Given the description of an element on the screen output the (x, y) to click on. 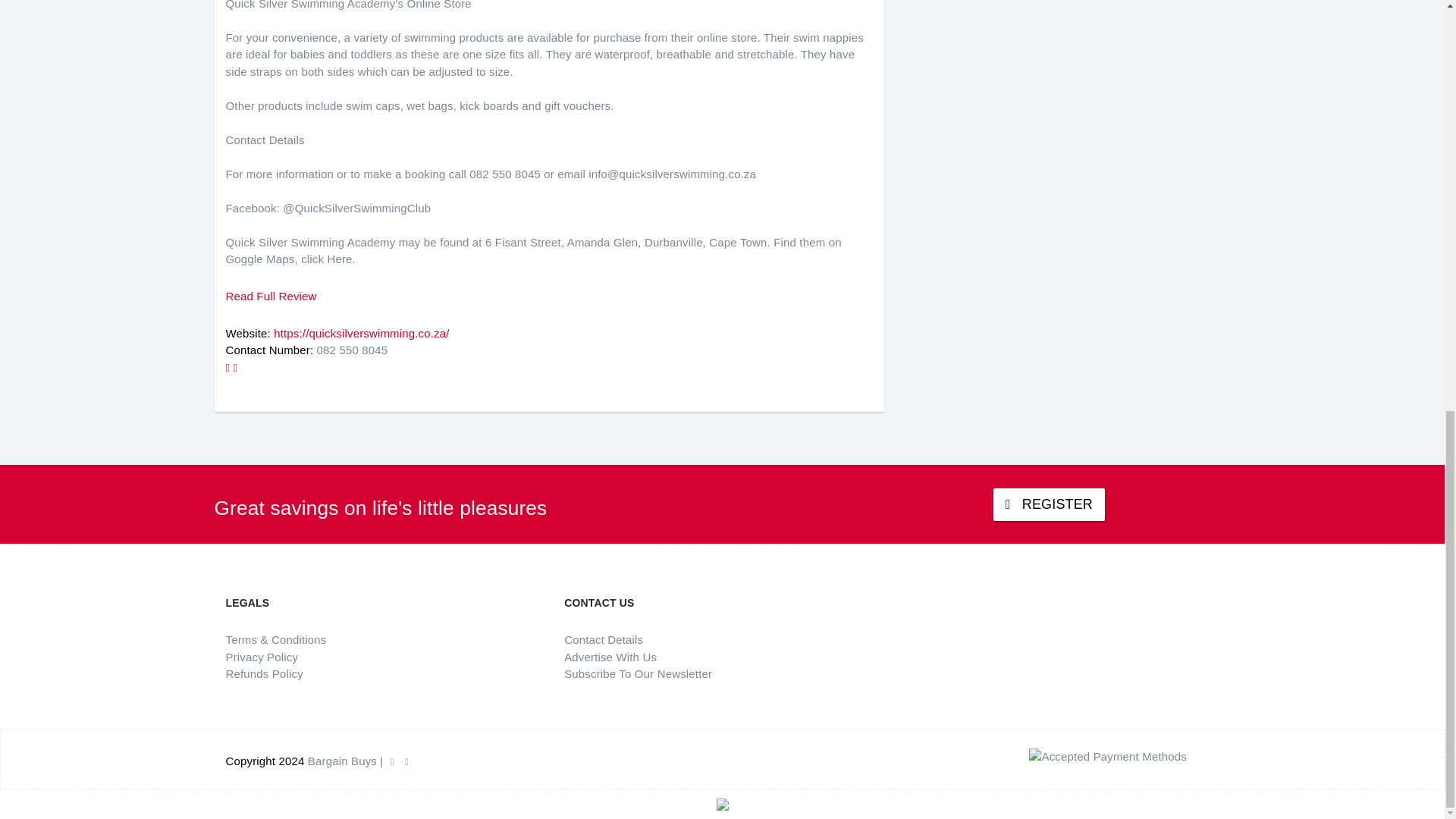
Advertise With Us (610, 656)
Refunds Policy (263, 673)
Contact Details (603, 639)
Read Full Review (271, 295)
Subscribe To Our Newsletter (637, 673)
Privacy Policy (261, 656)
  REGISTER (1048, 504)
